Given the description of an element on the screen output the (x, y) to click on. 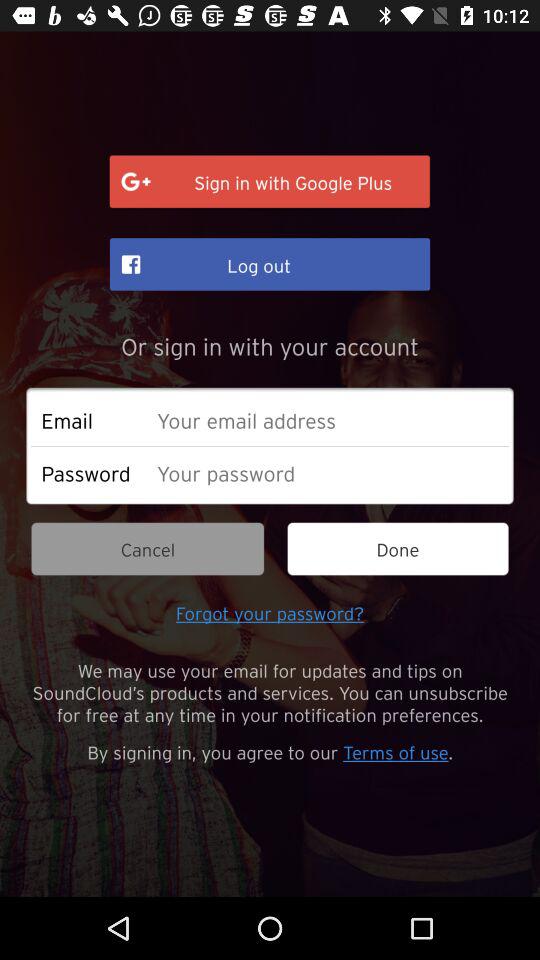
press the icon to the right of the cancel item (397, 548)
